Given the description of an element on the screen output the (x, y) to click on. 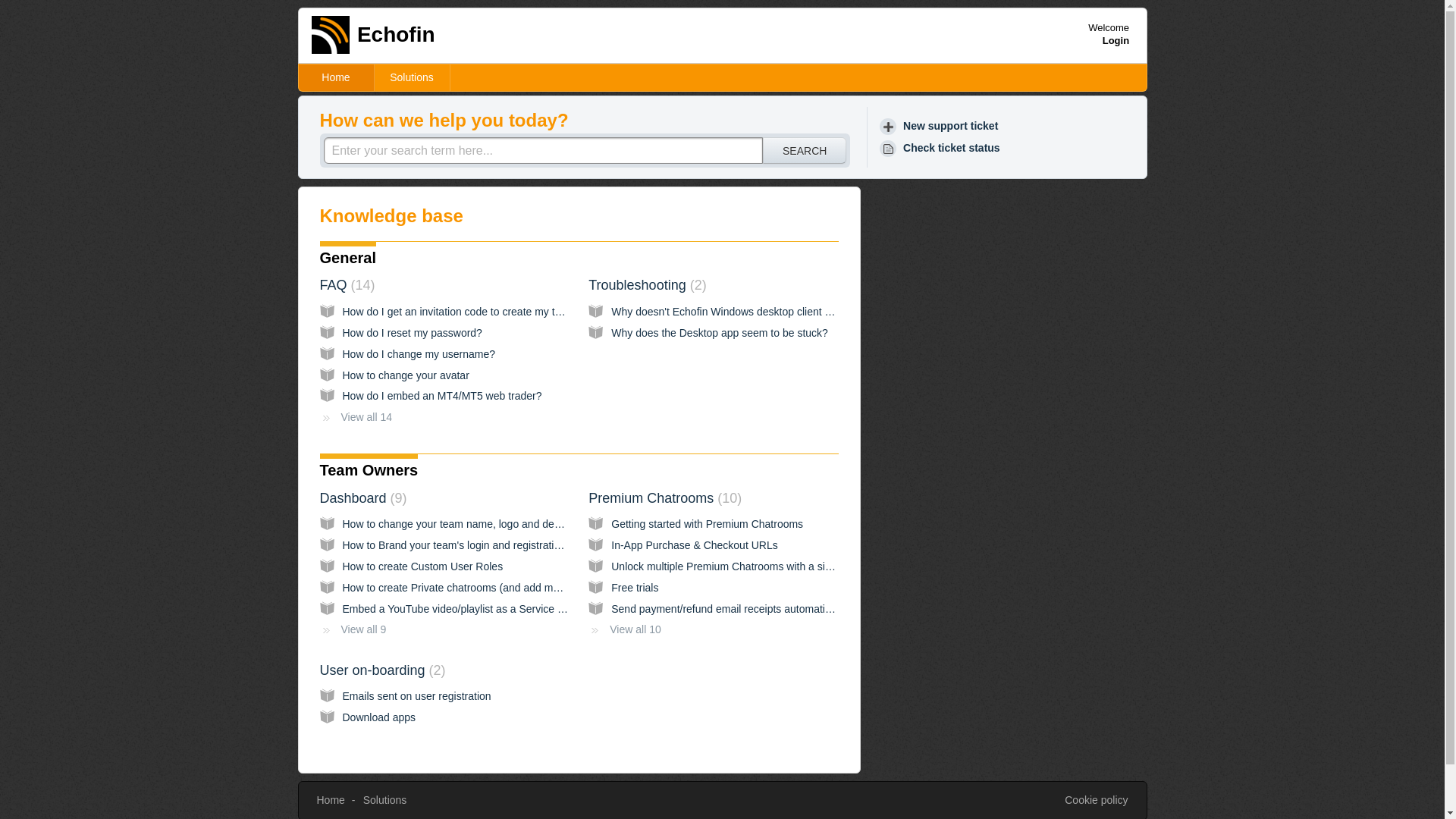
User on-boarding 2 (382, 670)
How to change your avatar (405, 375)
Troubleshooting (647, 284)
Why we love Cookies (1095, 800)
FAQ 14 (347, 284)
Login (1115, 40)
Emails sent on user registration (417, 695)
Check ticket status (941, 147)
Getting started with Premium Chatrooms (707, 523)
How to change your team name, logo and description. (469, 523)
View all 10 (624, 629)
How do I change my username? (419, 354)
Solutions (384, 799)
User on-boarding (382, 670)
How to Brand your team's login and registration page (467, 544)
